Given the description of an element on the screen output the (x, y) to click on. 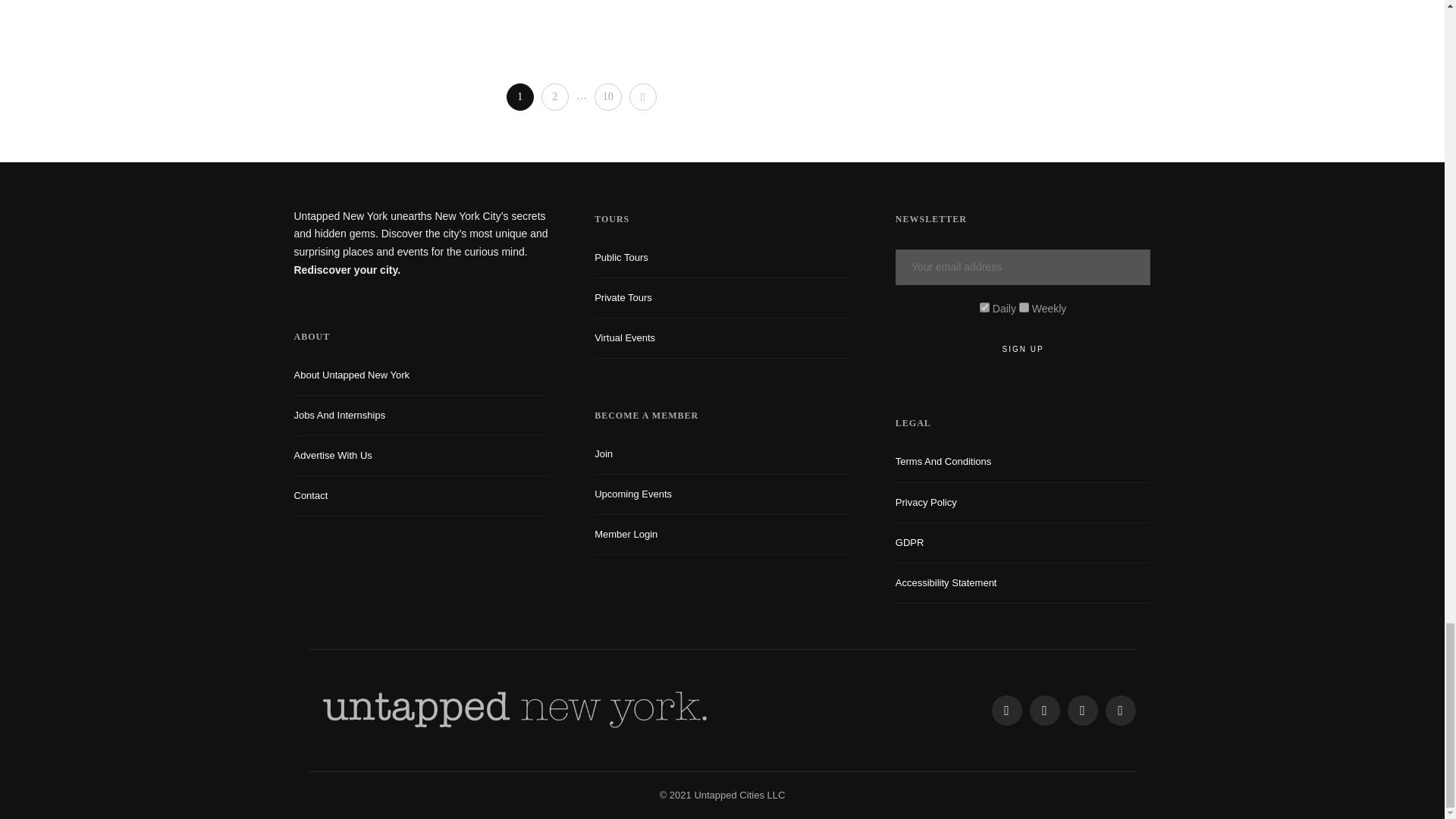
7cff6a70fd (1024, 307)
Sign up (1023, 349)
e99a09560c (984, 307)
